Given the description of an element on the screen output the (x, y) to click on. 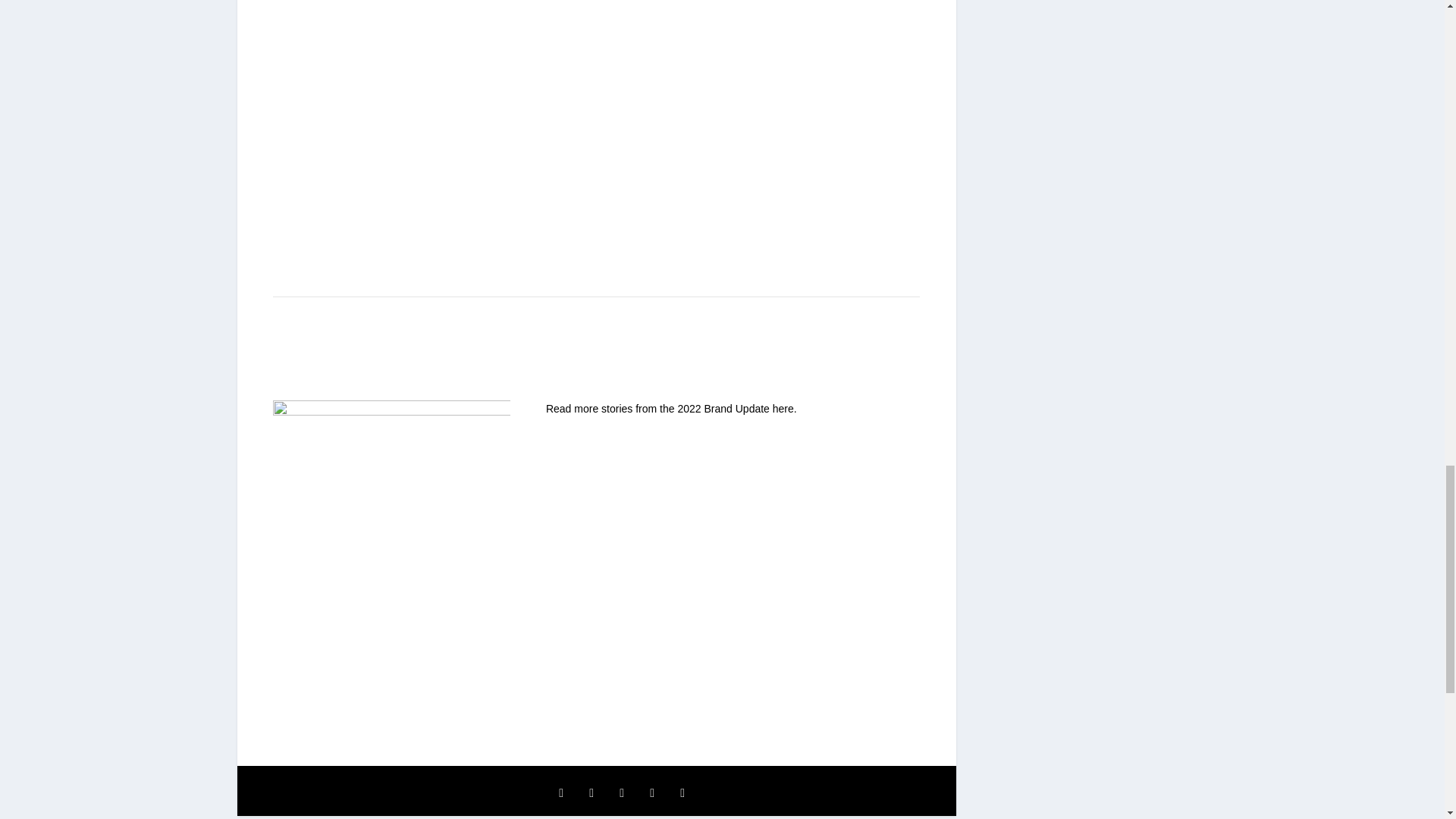
2022 Brand Update here. (736, 408)
Share "Global Growth" via Twitter (591, 793)
Share "Global Growth" via Email (681, 793)
Share "Global Growth" via Facebook (561, 793)
Share "Global Growth" via Pinterest (622, 793)
Share "Global Growth" via LinkedIn (651, 793)
